Given the description of an element on the screen output the (x, y) to click on. 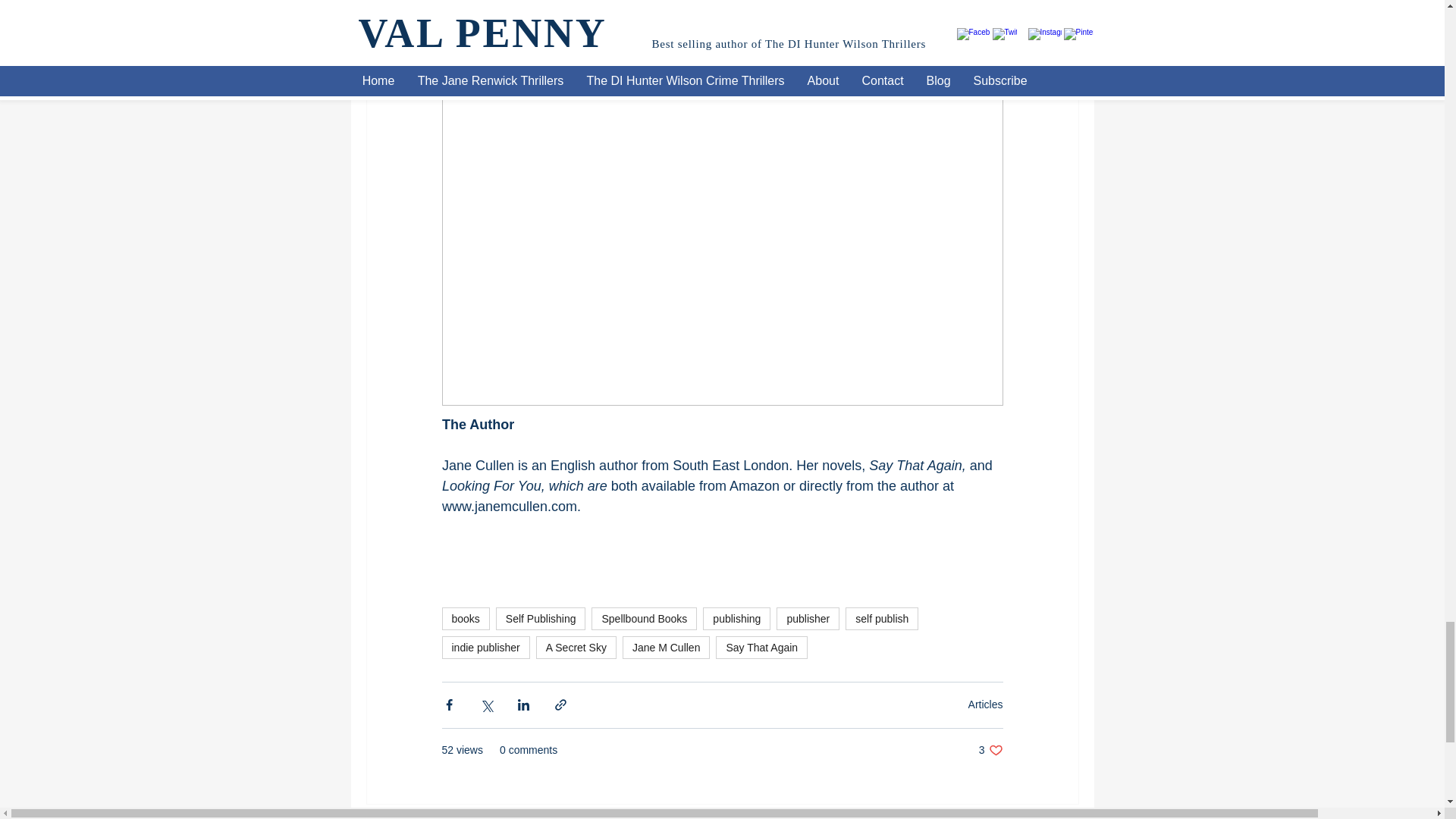
Spellbound Books (644, 618)
books (465, 618)
Self Publishing (541, 618)
publishing (736, 618)
self publish (881, 618)
publisher (808, 618)
Jane M Cullen (666, 647)
indie publisher (485, 647)
Say That Again (762, 647)
A Secret Sky (575, 647)
